Given the description of an element on the screen output the (x, y) to click on. 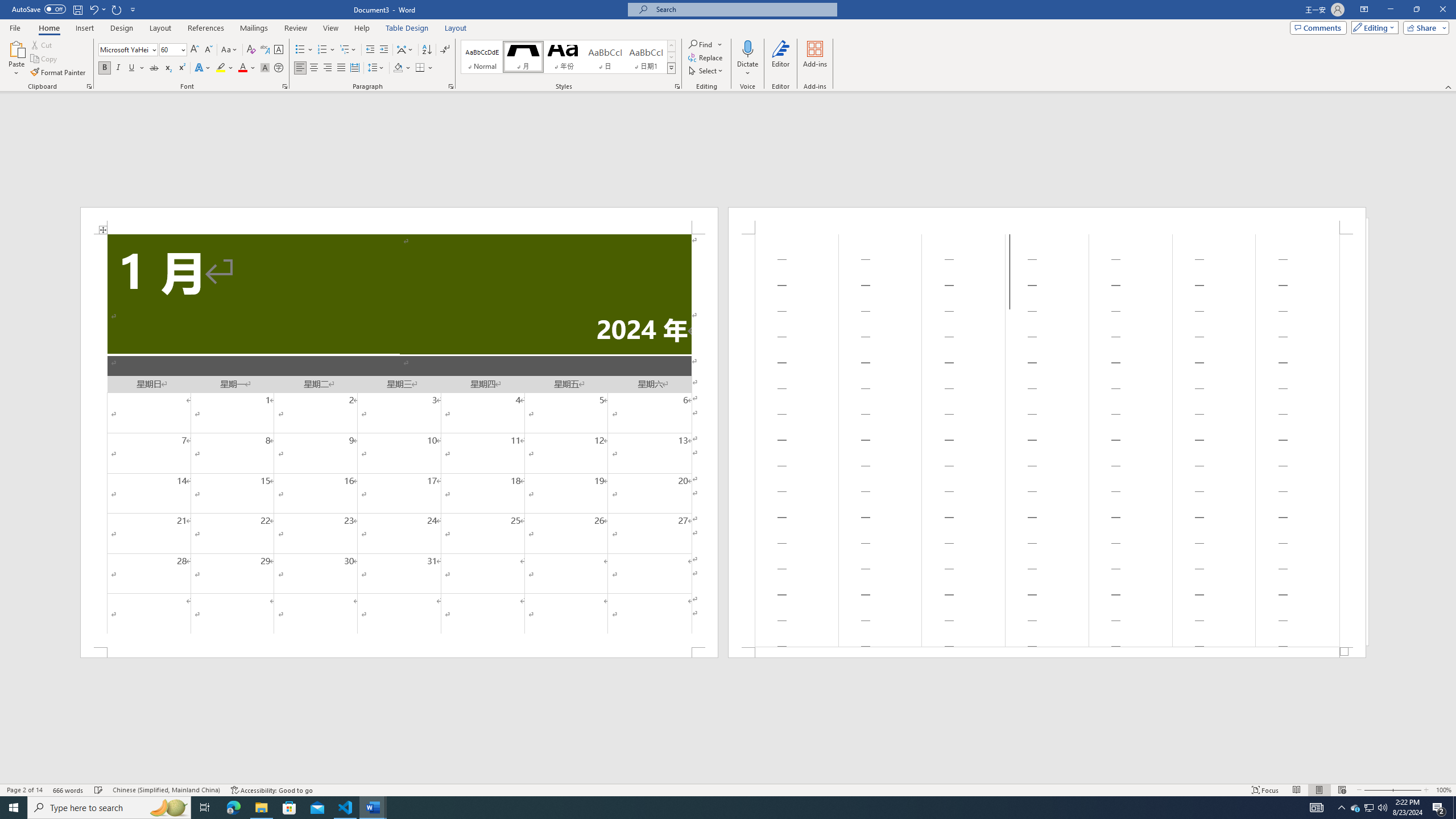
Page Number Page 2 of 14 (24, 790)
